Given the description of an element on the screen output the (x, y) to click on. 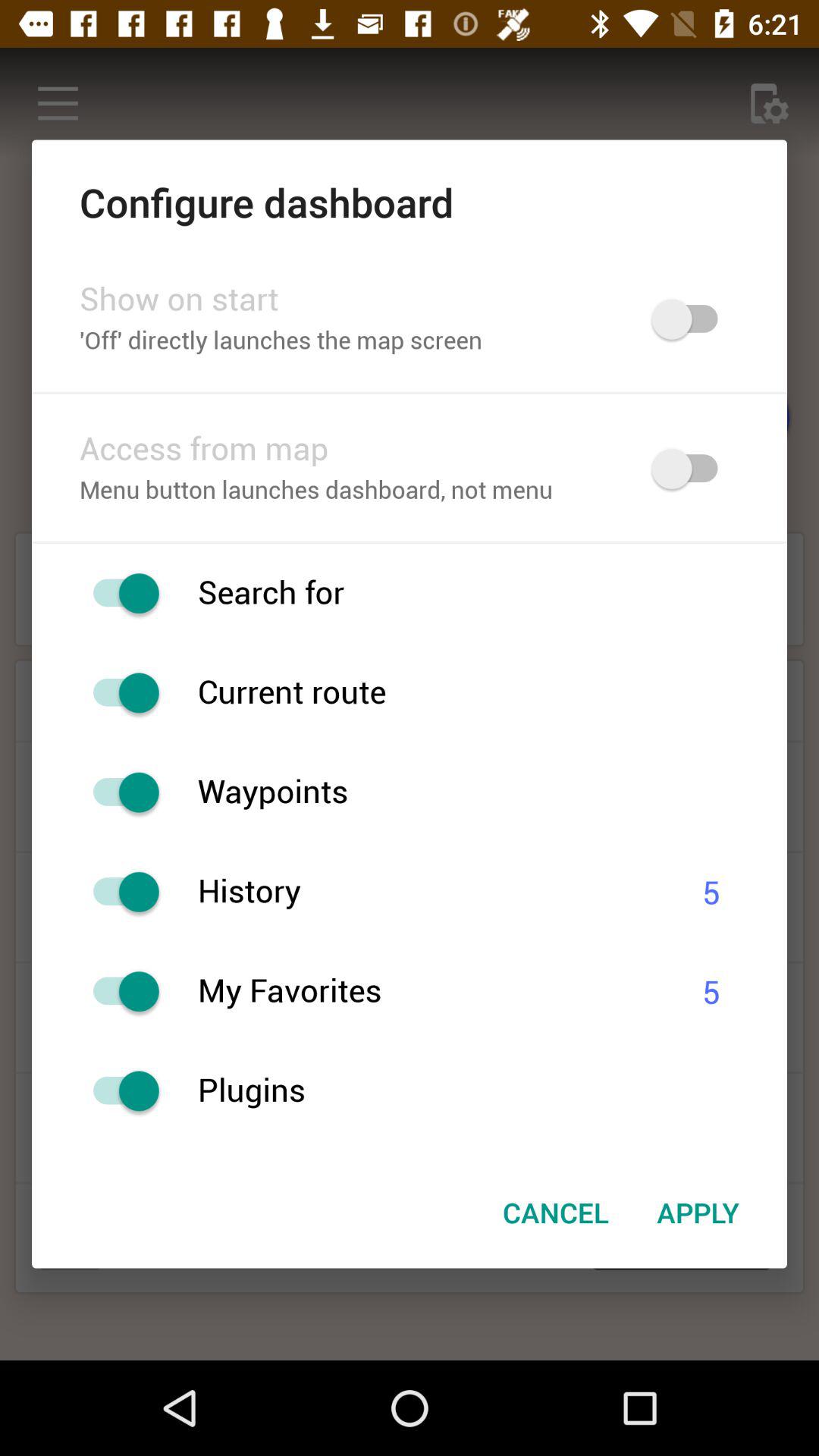
open the icon above the history icon (492, 792)
